Given the description of an element on the screen output the (x, y) to click on. 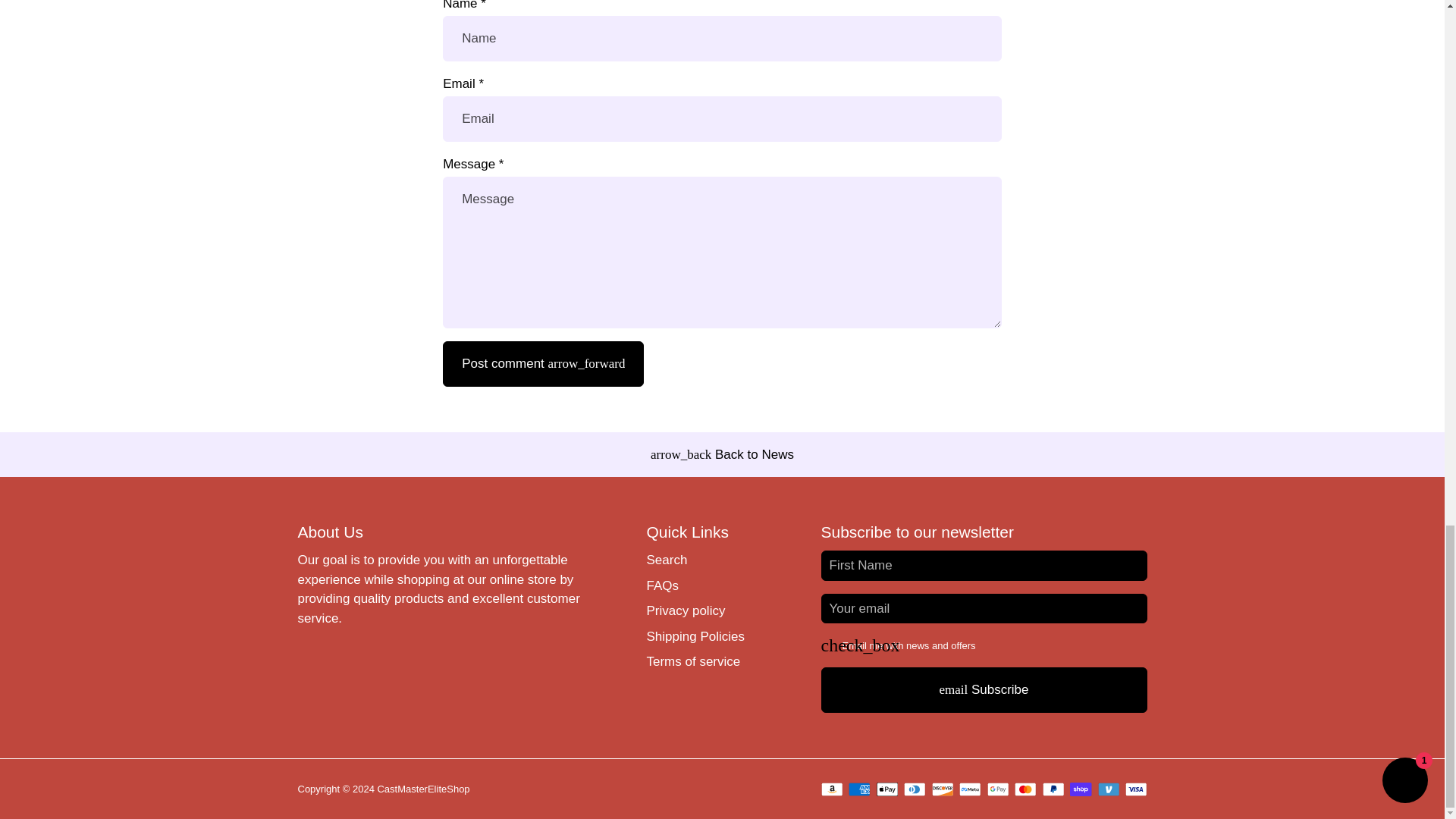
Diners Club (915, 789)
Amazon (831, 789)
American Express (859, 789)
Discover (941, 789)
Apple Pay (887, 789)
